Given the description of an element on the screen output the (x, y) to click on. 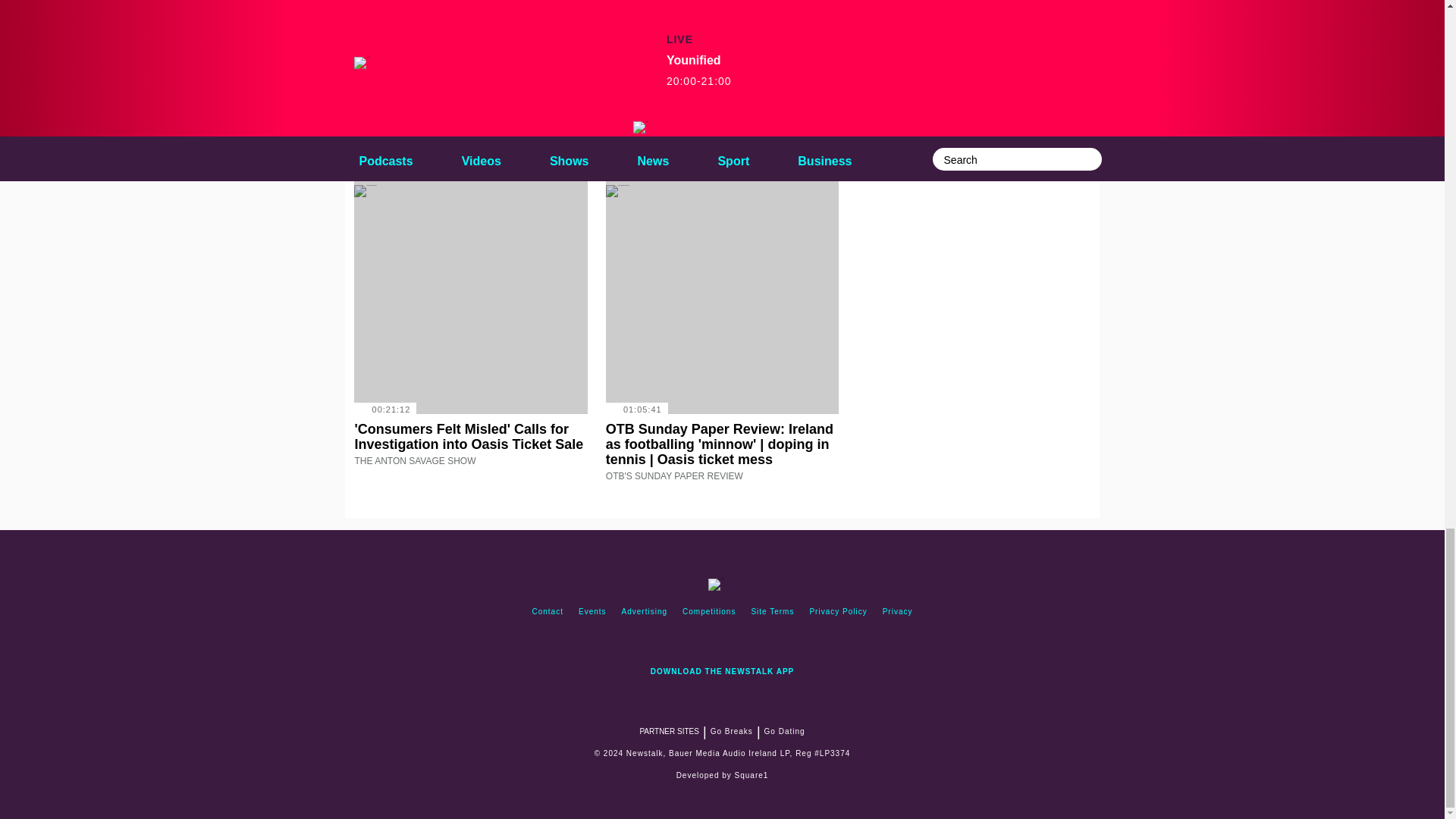
events (592, 611)
Privacy Policy (838, 611)
competitions (708, 611)
Privacy (897, 611)
site terms (772, 611)
contact (547, 611)
advertising (644, 611)
